Given the description of an element on the screen output the (x, y) to click on. 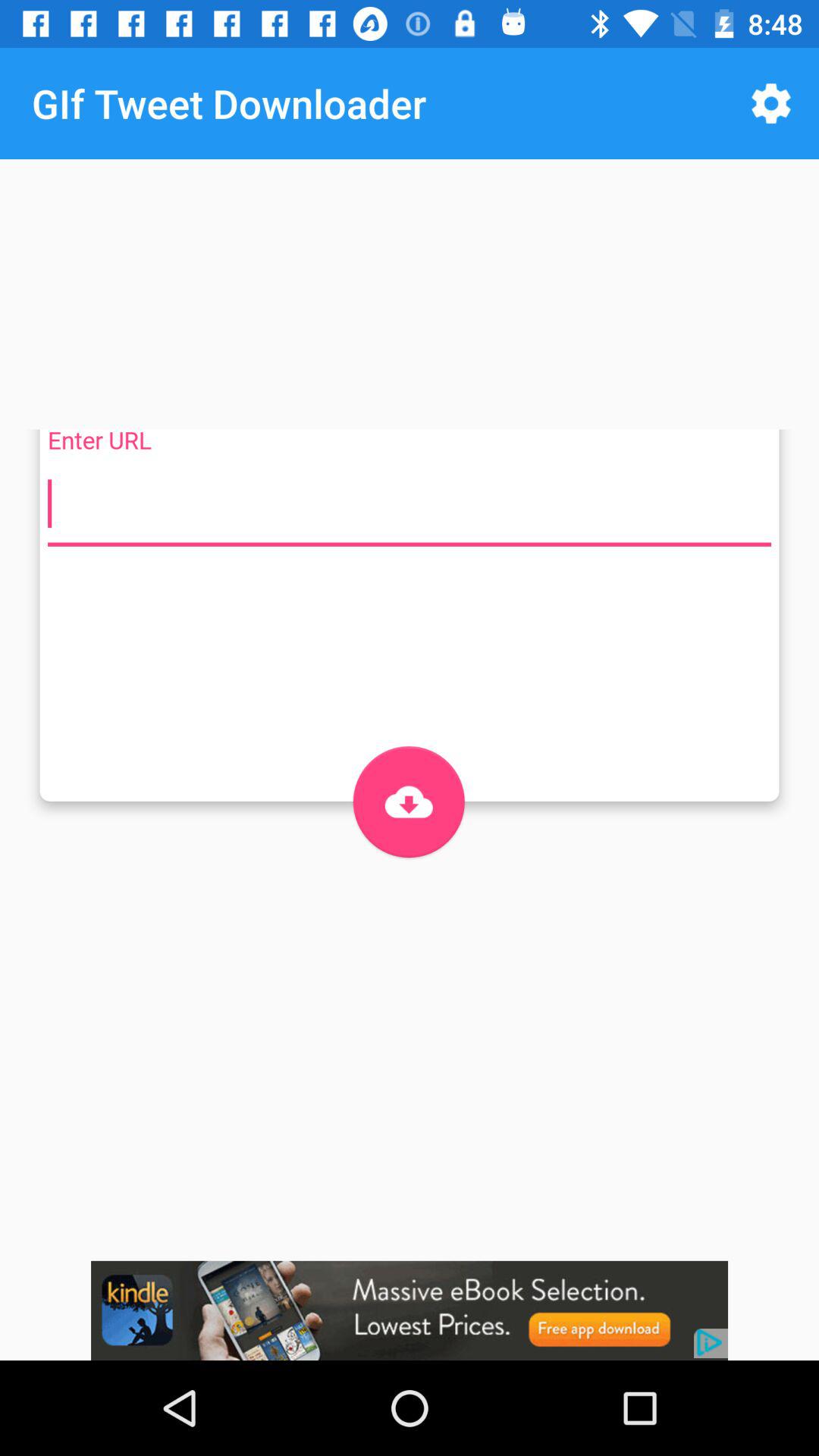
bottom advertisement (409, 1310)
